Given the description of an element on the screen output the (x, y) to click on. 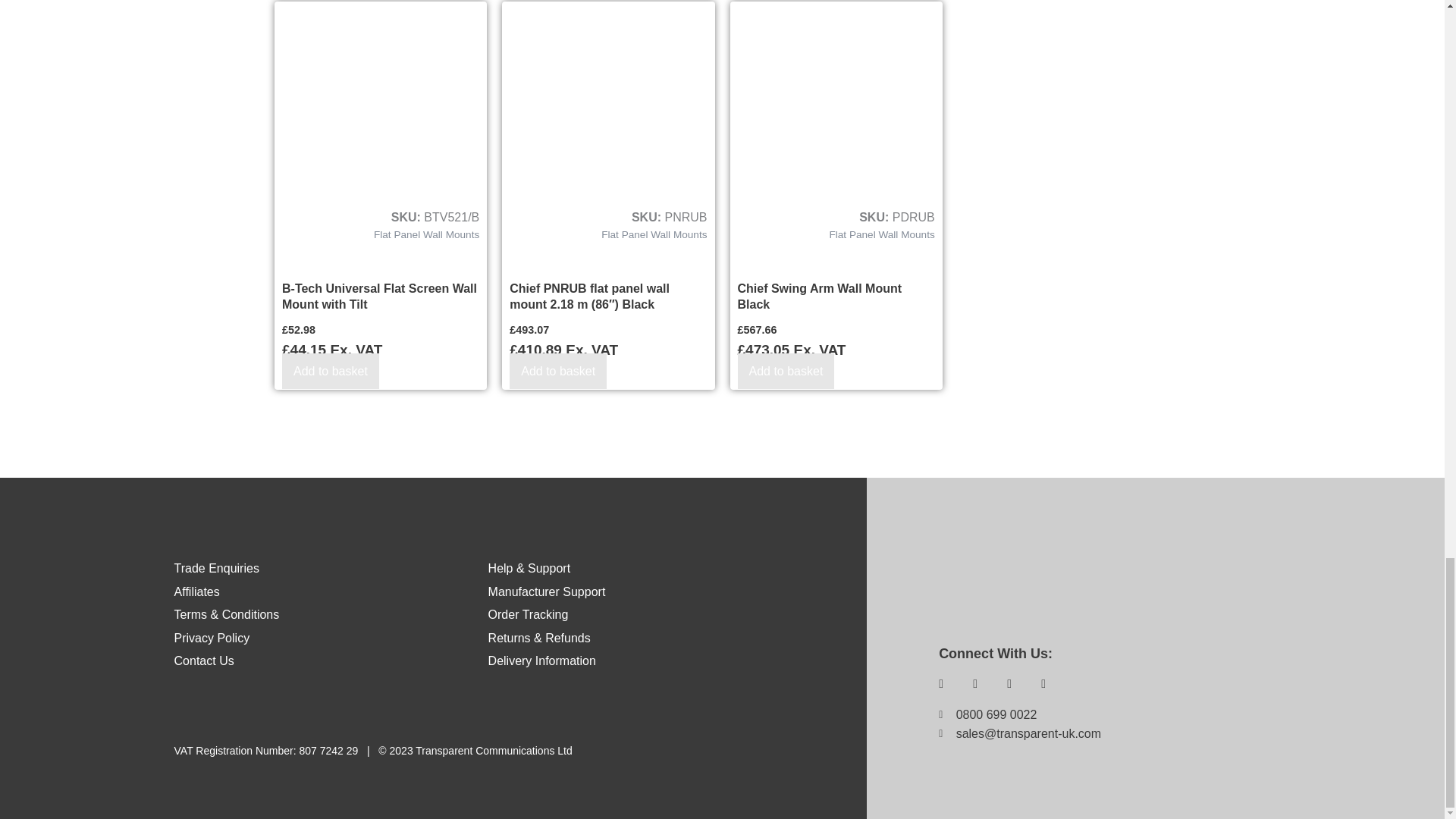
Order Tracking (528, 614)
Manufacturer Support (546, 591)
Affiliates (196, 591)
Contact Us (204, 660)
Trade Enquiries (216, 567)
Privacy Policy (212, 637)
